Given the description of an element on the screen output the (x, y) to click on. 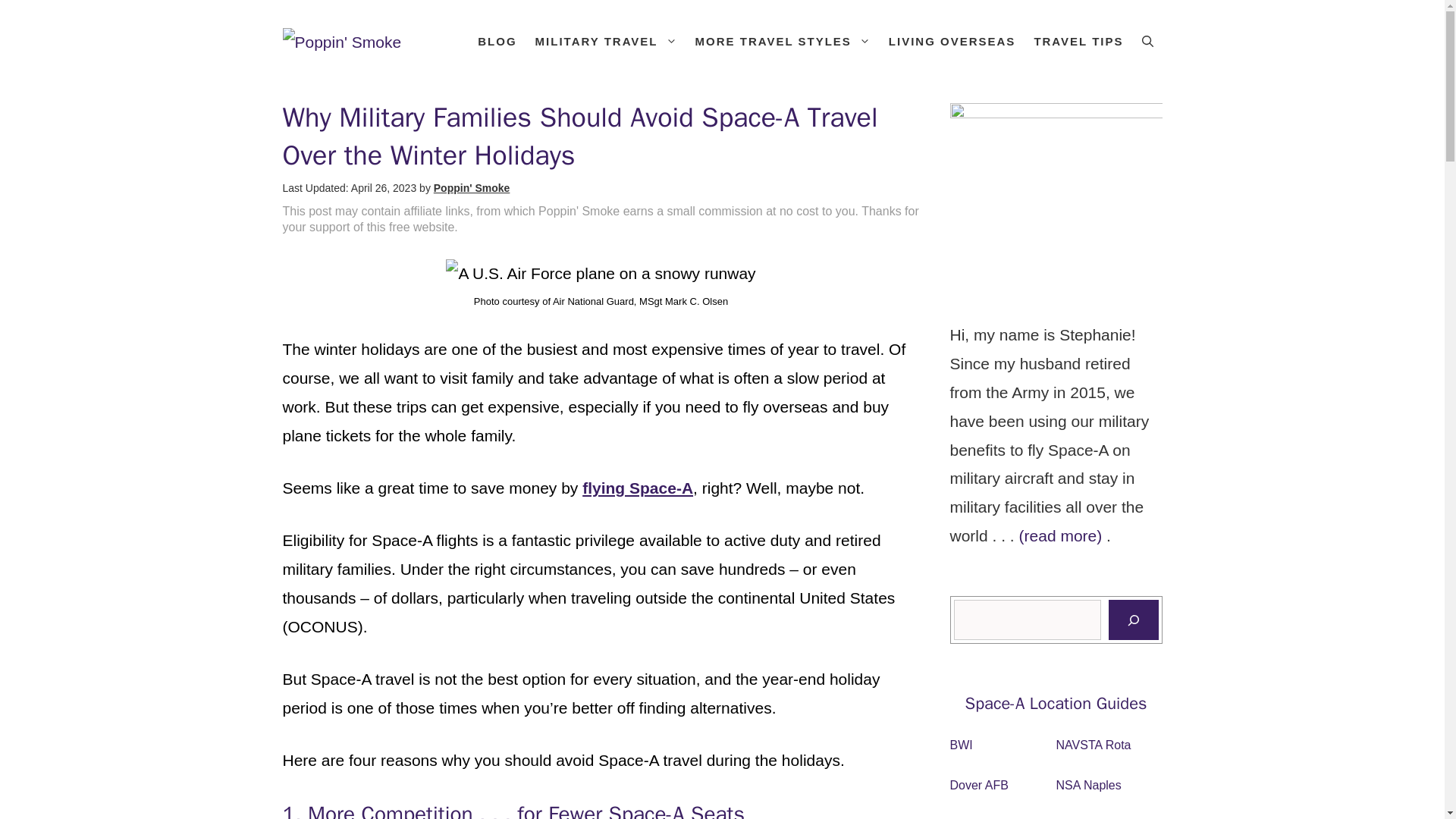
BLOG (496, 41)
MORE TRAVEL STYLES (782, 41)
TRAVEL TIPS (1078, 41)
LIVING OVERSEAS (952, 41)
View all posts by Poppin' Smoke (472, 187)
MILITARY TRAVEL (605, 41)
flying Space-A (637, 487)
Poppin' Smoke (472, 187)
